Given the description of an element on the screen output the (x, y) to click on. 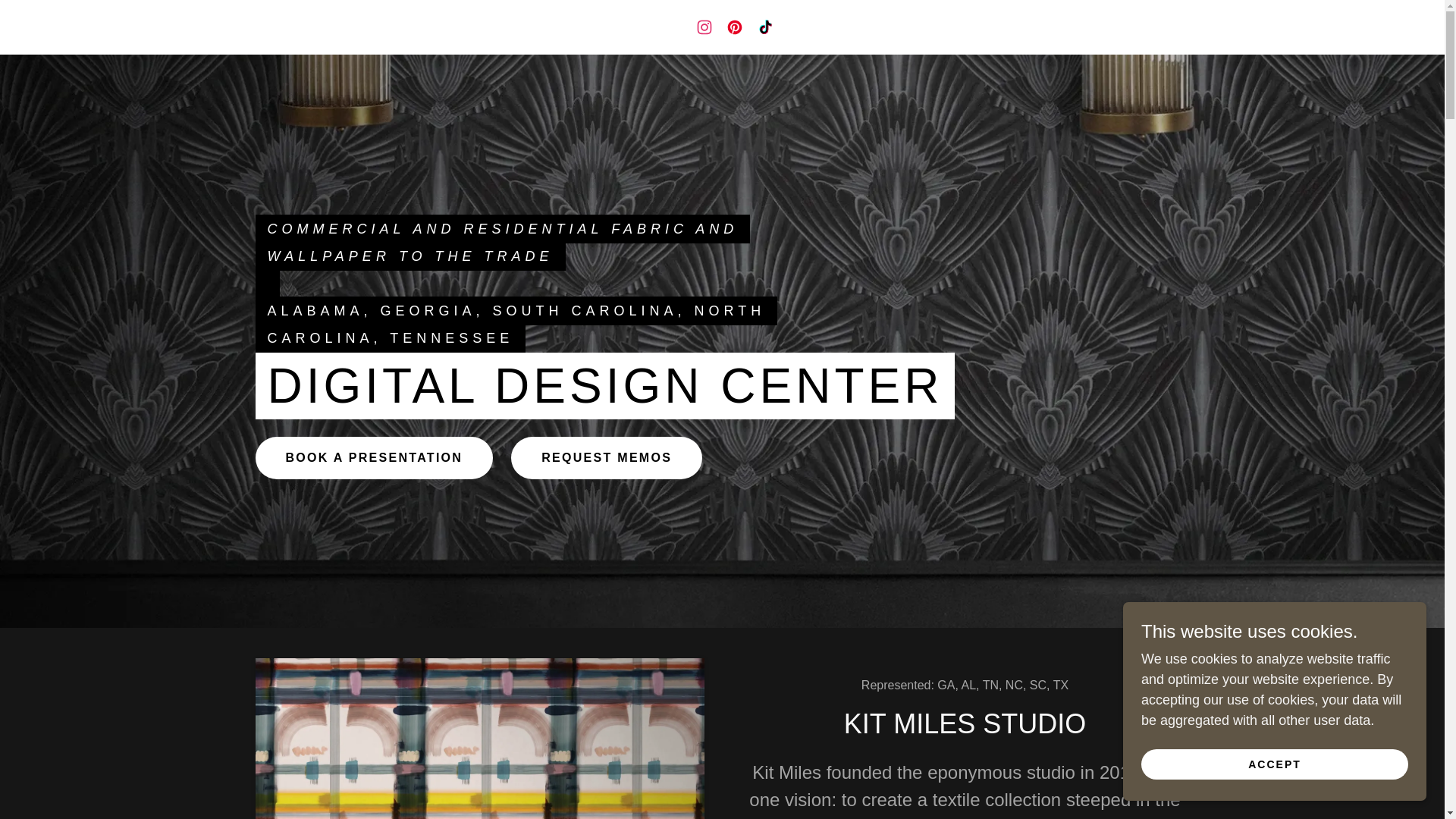
BOOK A PRESENTATION (373, 457)
REQUEST MEMOS (606, 457)
